Given the description of an element on the screen output the (x, y) to click on. 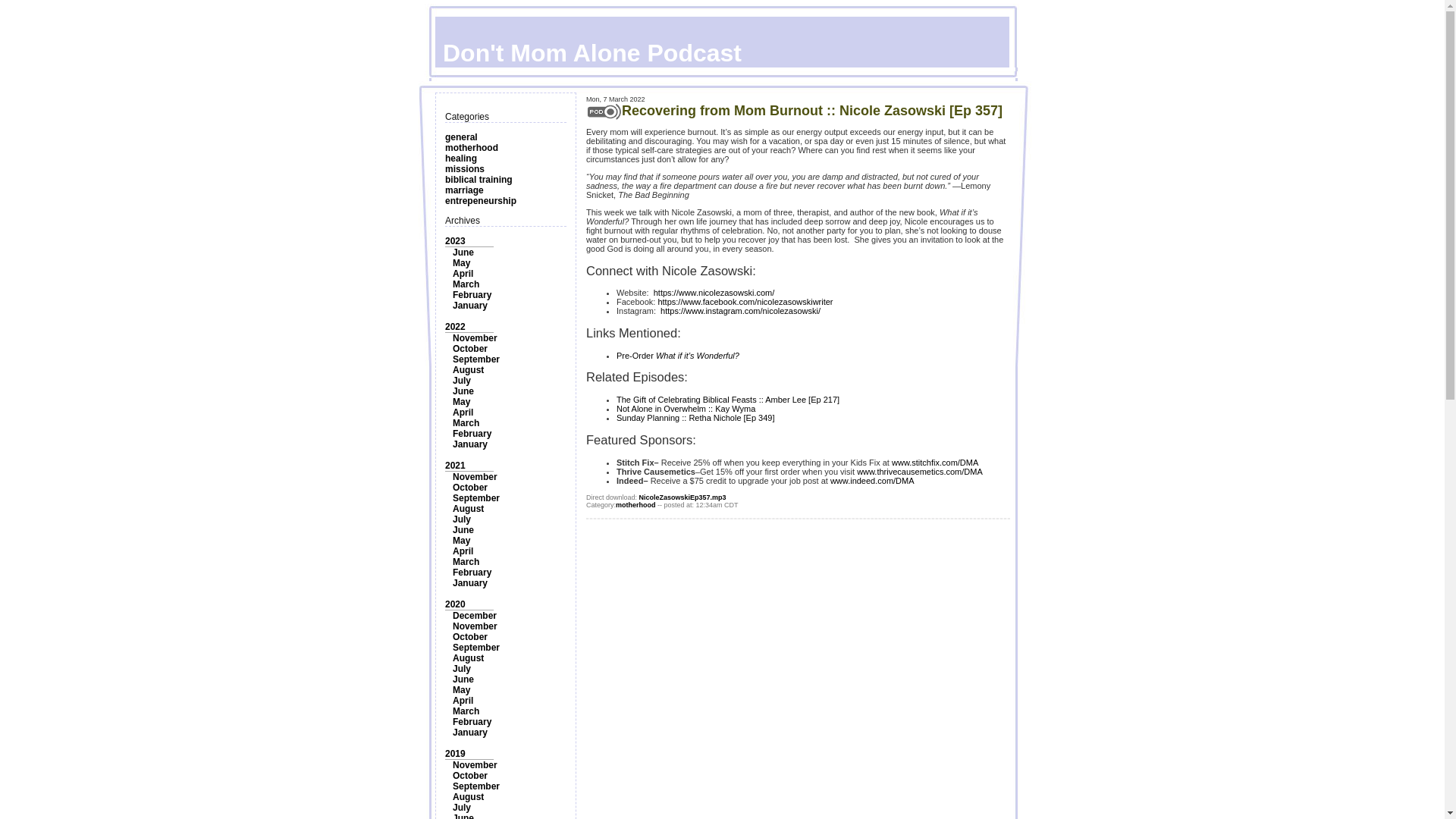
biblical training (478, 179)
2020 (455, 603)
March (465, 284)
October (469, 348)
April (462, 412)
April (462, 273)
December (474, 615)
motherhood (471, 147)
October (469, 487)
April (462, 551)
August (467, 508)
September (475, 358)
August (467, 369)
2021 (455, 465)
July (461, 380)
